Given the description of an element on the screen output the (x, y) to click on. 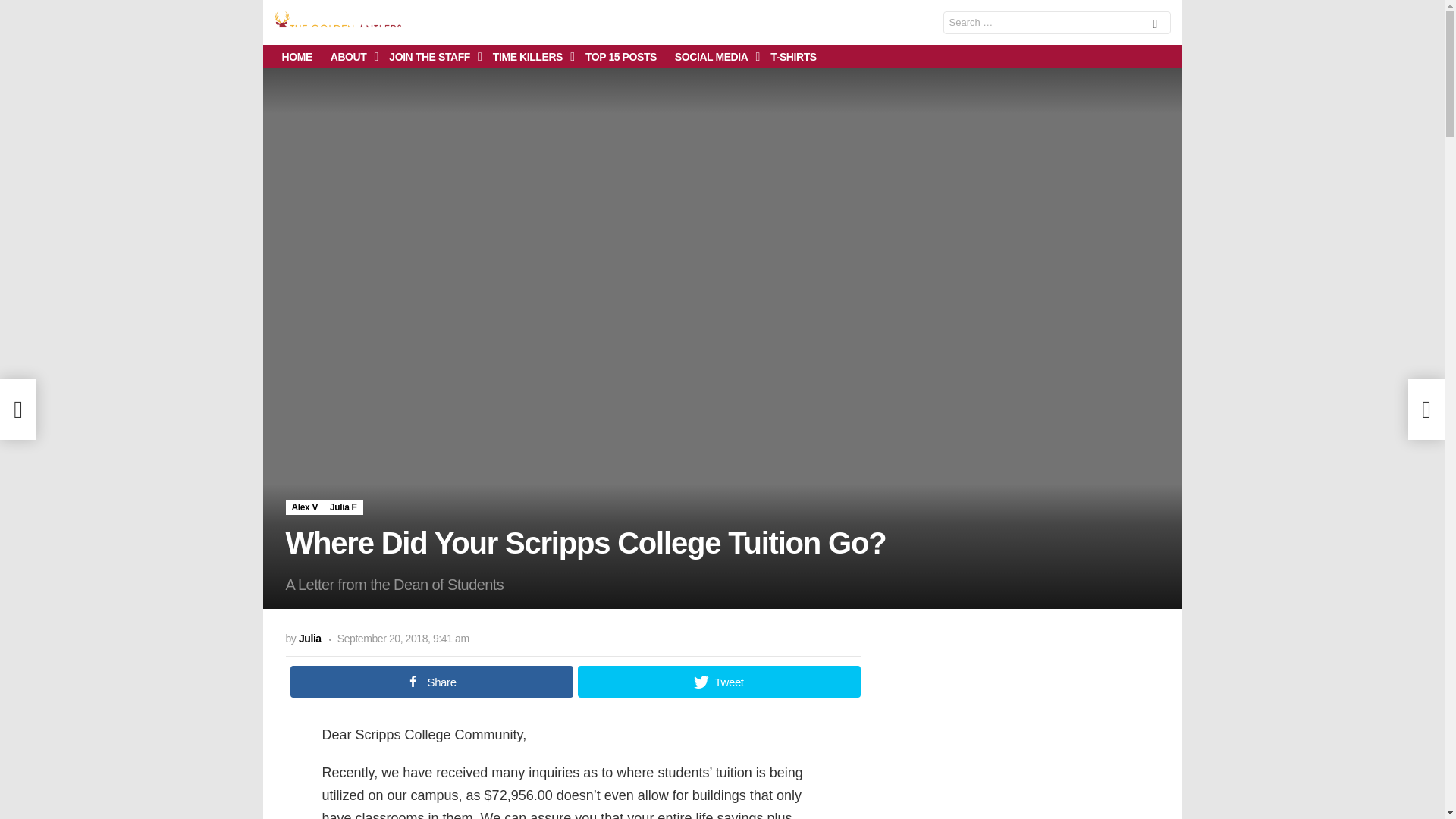
T-SHIRTS (793, 56)
Alex V (304, 507)
Tweet (719, 681)
TOP 15 POSTS (620, 56)
ABOUT (350, 56)
Julia F (342, 507)
TIME KILLERS (529, 56)
HOME (297, 56)
Share (430, 681)
JOIN THE STAFF (431, 56)
Julia (309, 638)
Search for: (1056, 22)
Posts by Julia (309, 638)
SEARCH (1155, 25)
SOCIAL MEDIA (713, 56)
